Given the description of an element on the screen output the (x, y) to click on. 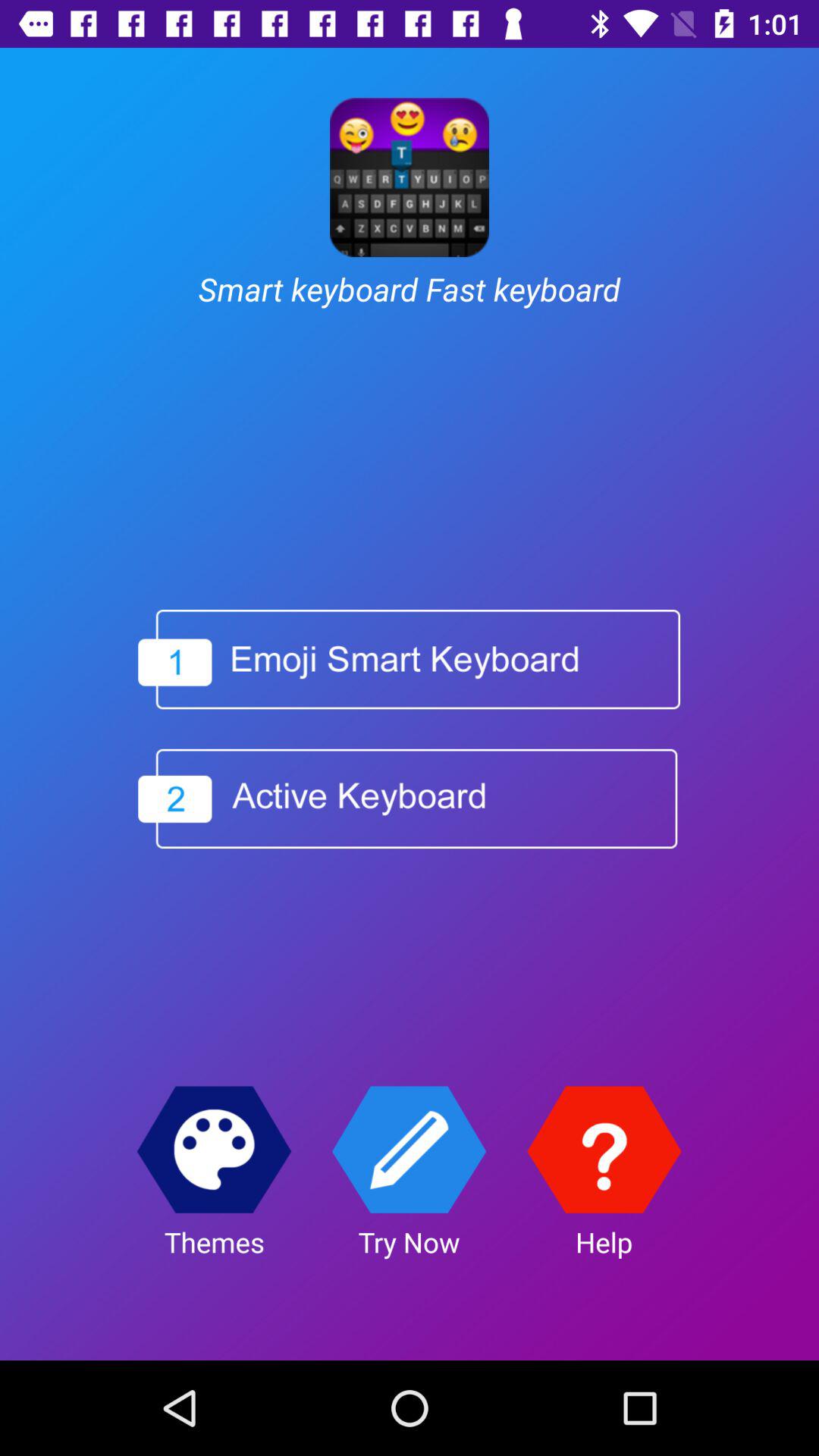
select the icon below smart keyboard fast item (409, 659)
